Given the description of an element on the screen output the (x, y) to click on. 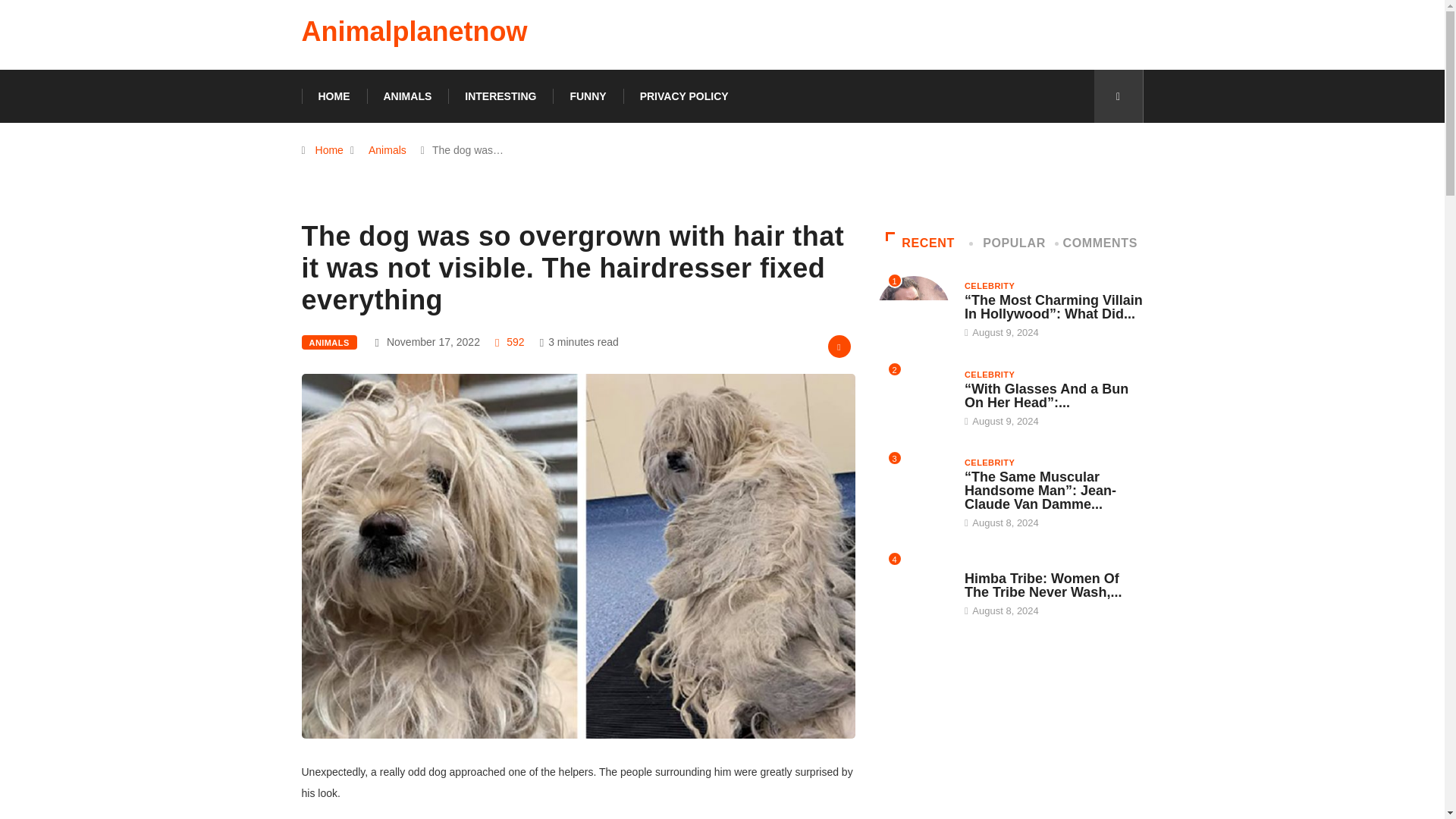
Animals (387, 150)
Animalplanetnow (414, 31)
FUNNY (588, 95)
ANIMALS (328, 341)
Home (329, 150)
HOME (333, 95)
popup modal for search (1117, 95)
ANIMALS (407, 95)
INTERESTING (500, 95)
PRIVACY POLICY (684, 95)
